Given the description of an element on the screen output the (x, y) to click on. 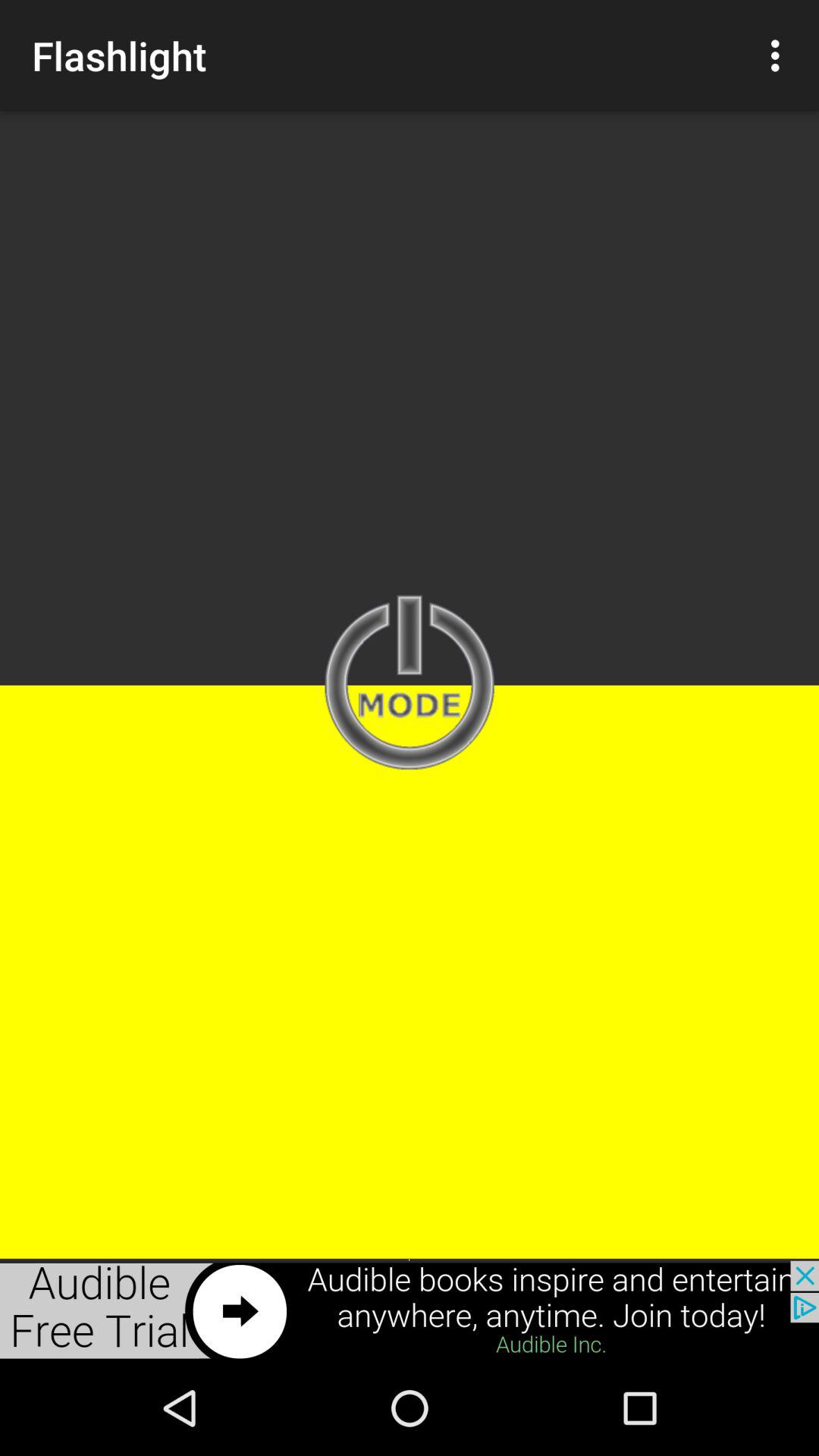
power button (409, 684)
